Given the description of an element on the screen output the (x, y) to click on. 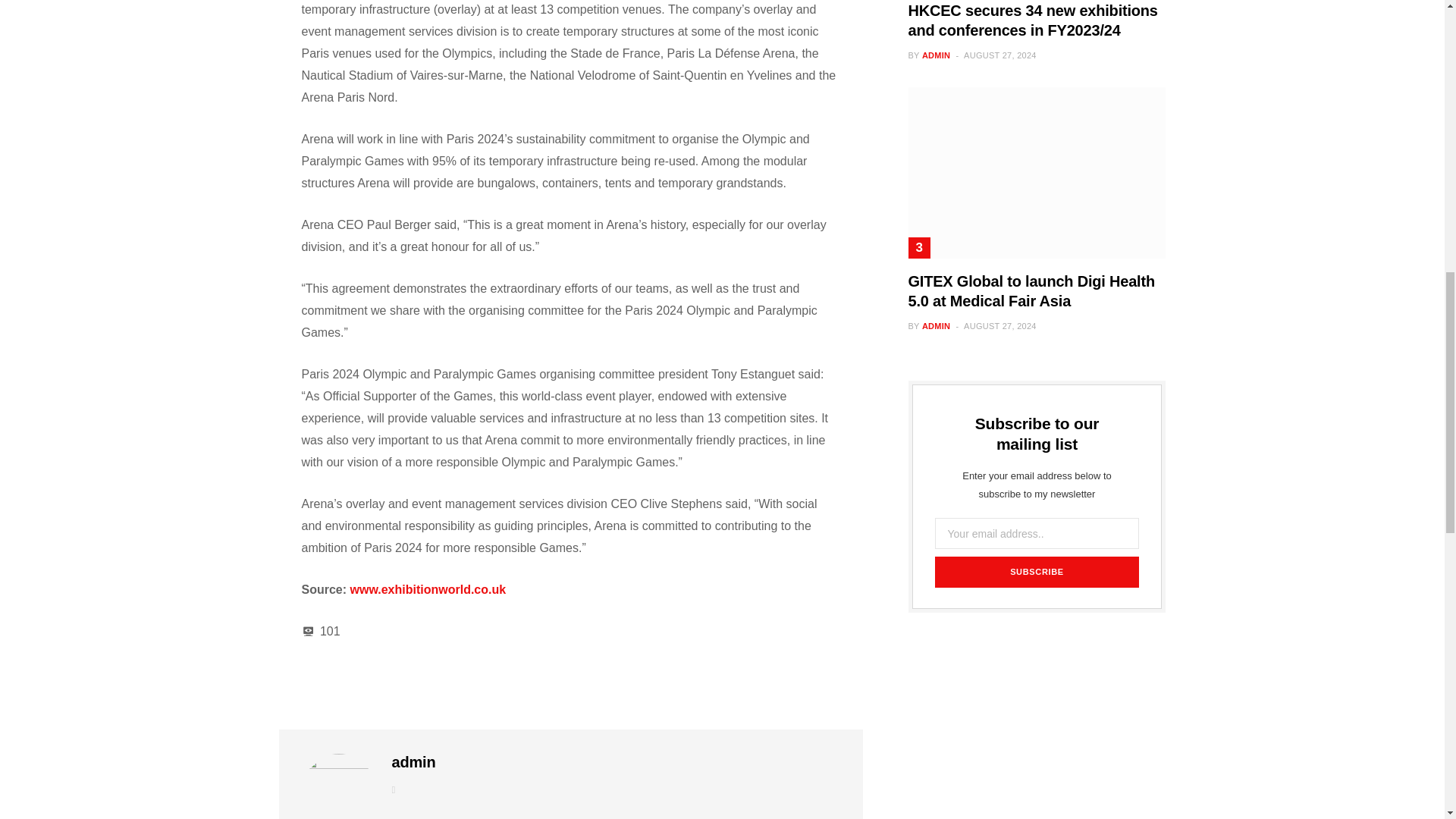
Subscribe (1036, 572)
www.exhibitionworld.co.uk (428, 589)
admin (413, 762)
Posts by admin (413, 762)
